Given the description of an element on the screen output the (x, y) to click on. 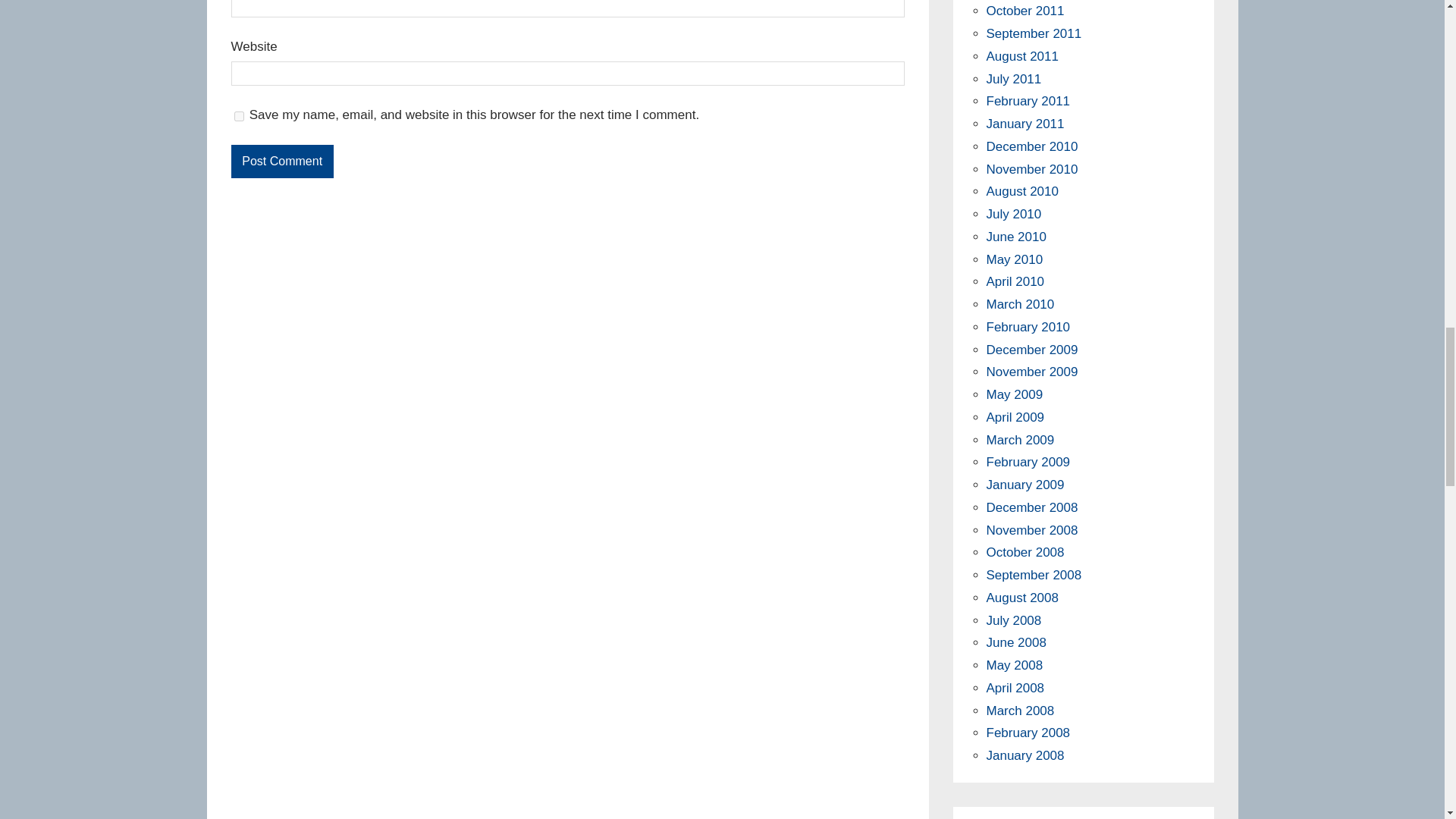
Post Comment (281, 161)
Post Comment (281, 161)
yes (237, 116)
